Given the description of an element on the screen output the (x, y) to click on. 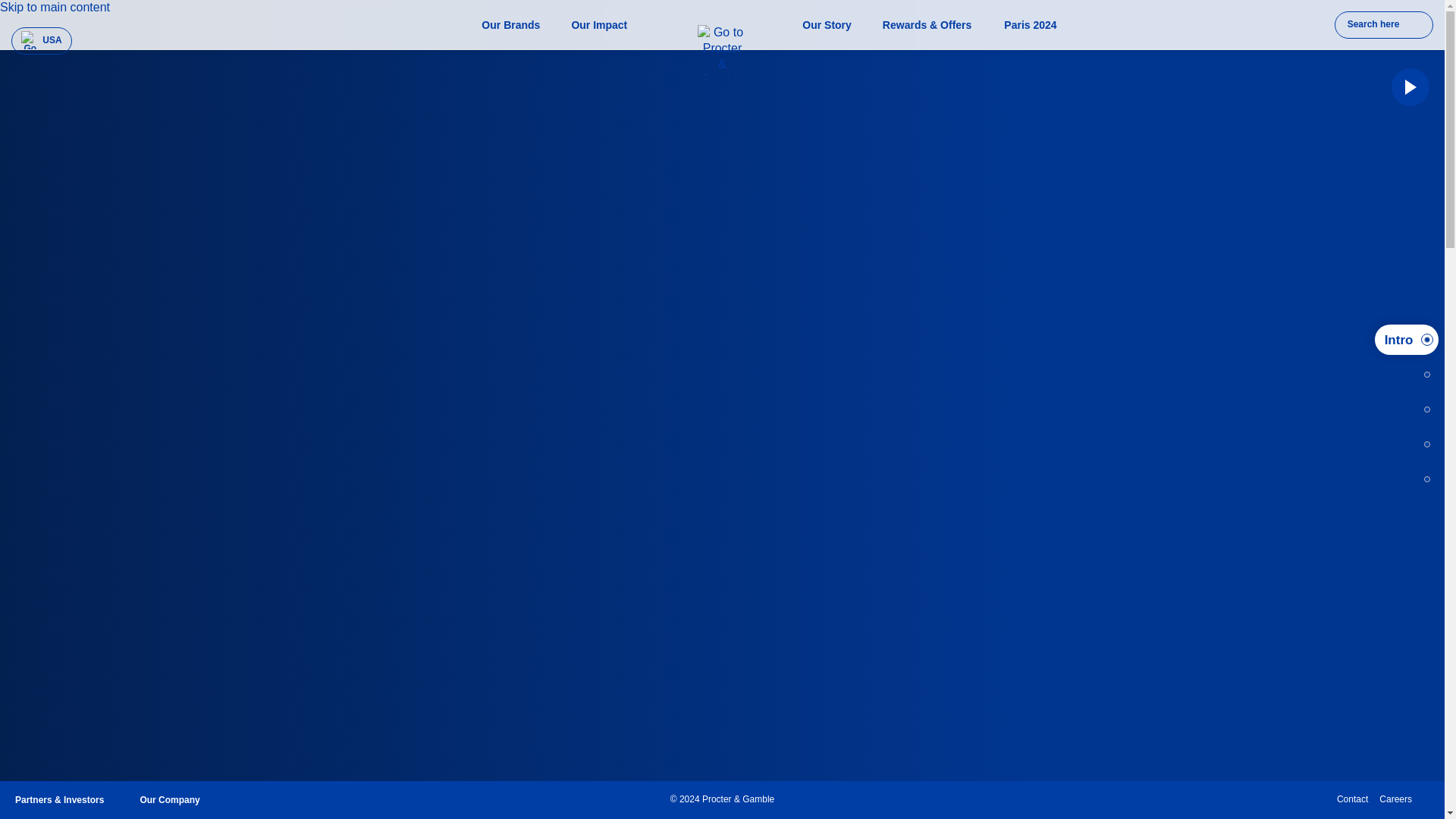
Making a difference (1422, 444)
Intro (1406, 339)
Intro (1398, 339)
Latest News (1422, 374)
Brands (1422, 409)
Paris 2024 (1030, 24)
